Given the description of an element on the screen output the (x, y) to click on. 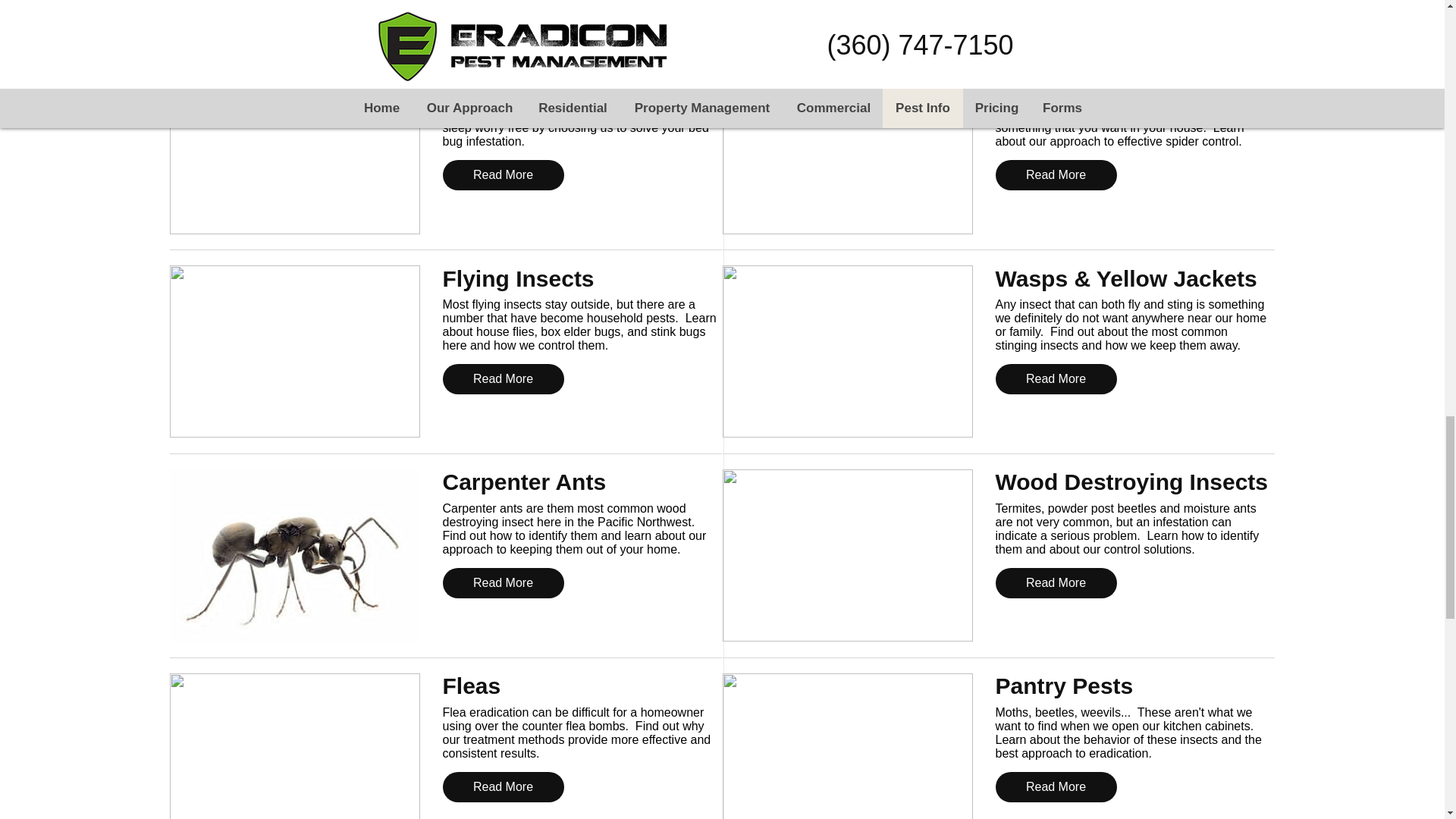
German Cockroach (847, 15)
Carpenter Ant (295, 555)
House fly (295, 351)
Flying Insects (580, 278)
Fleas (580, 686)
Read More (503, 174)
Yellow Jacket (847, 351)
Read More (503, 787)
Termite (847, 555)
Carpenter Ants (580, 482)
